Given the description of an element on the screen output the (x, y) to click on. 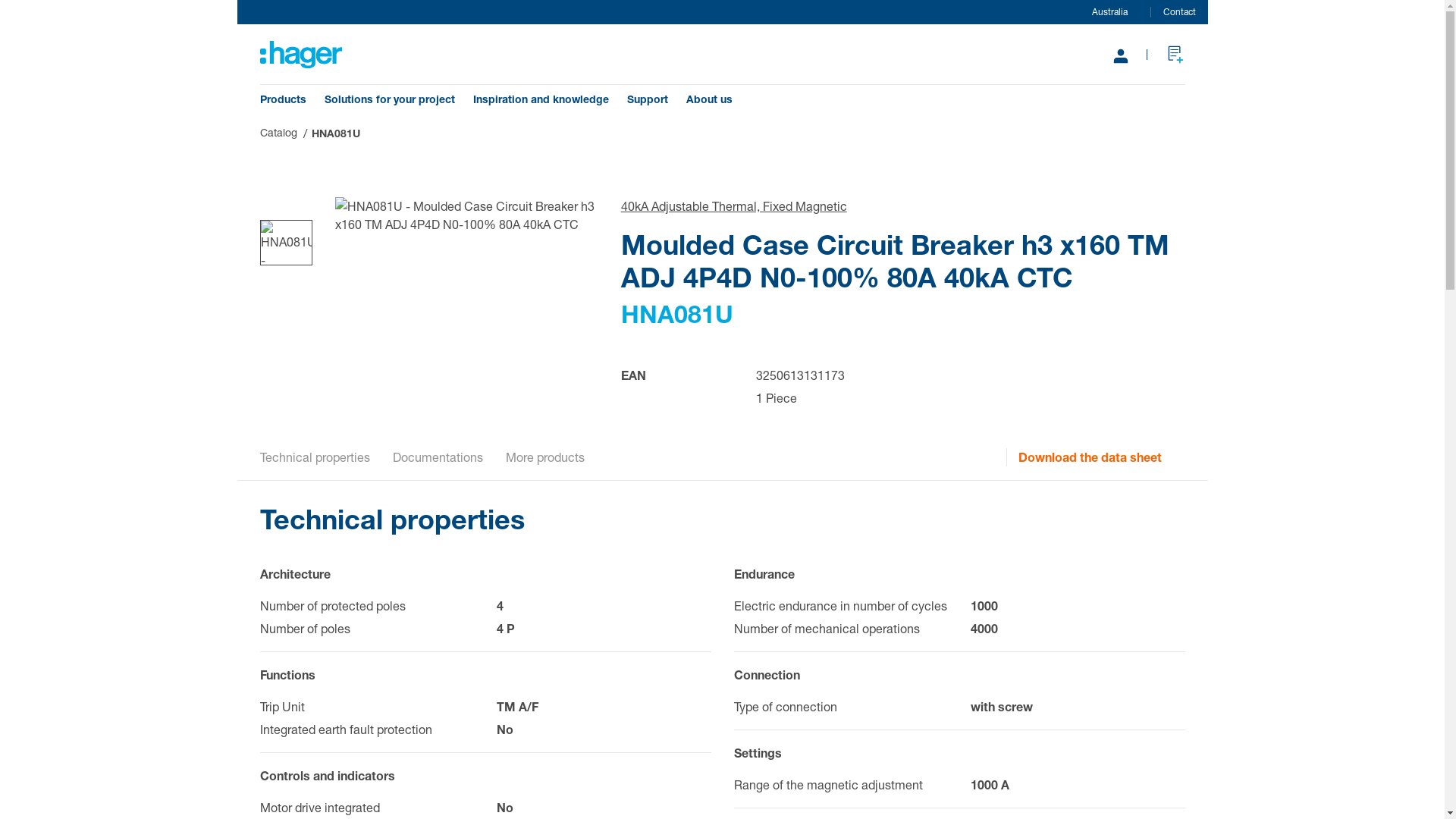
Products Element type: text (282, 98)
About us Element type: text (708, 98)
Download the data sheet Element type: text (1100, 457)
Technical properties Element type: text (314, 456)
More products Element type: text (544, 456)
Support Element type: text (646, 98)
Australia Element type: text (1100, 11)
Contact Element type: text (1179, 12)
HNA081U Element type: text (334, 132)
Documentations Element type: text (437, 456)
40kA Adjustable Thermal, Fixed Magnetic Element type: text (734, 205)
Catalog Element type: text (277, 132)
Solutions for your project Element type: text (389, 98)
Inspiration and knowledge Element type: text (541, 98)
